Given the description of an element on the screen output the (x, y) to click on. 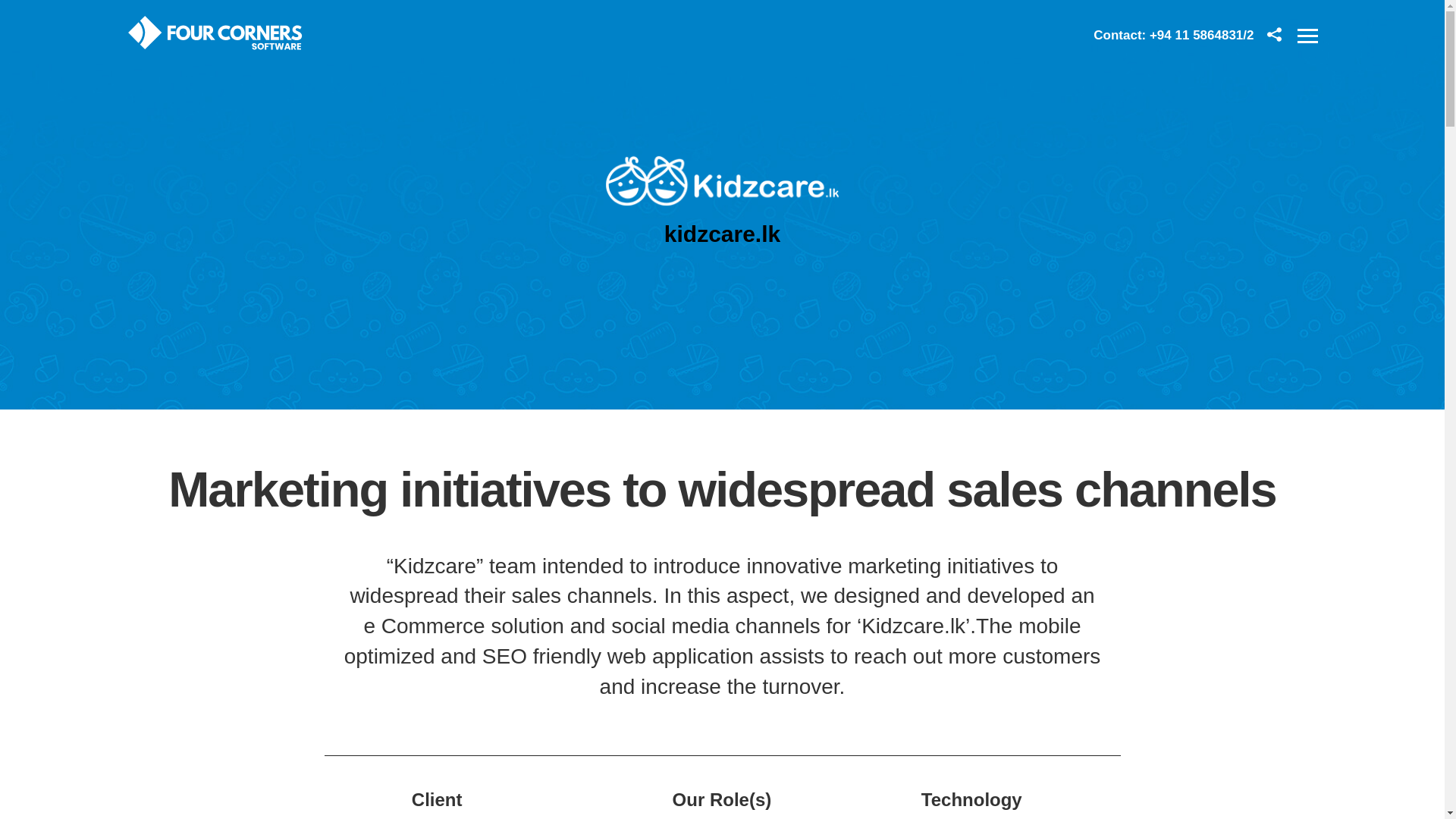
kidzcare.lk (721, 233)
